Given the description of an element on the screen output the (x, y) to click on. 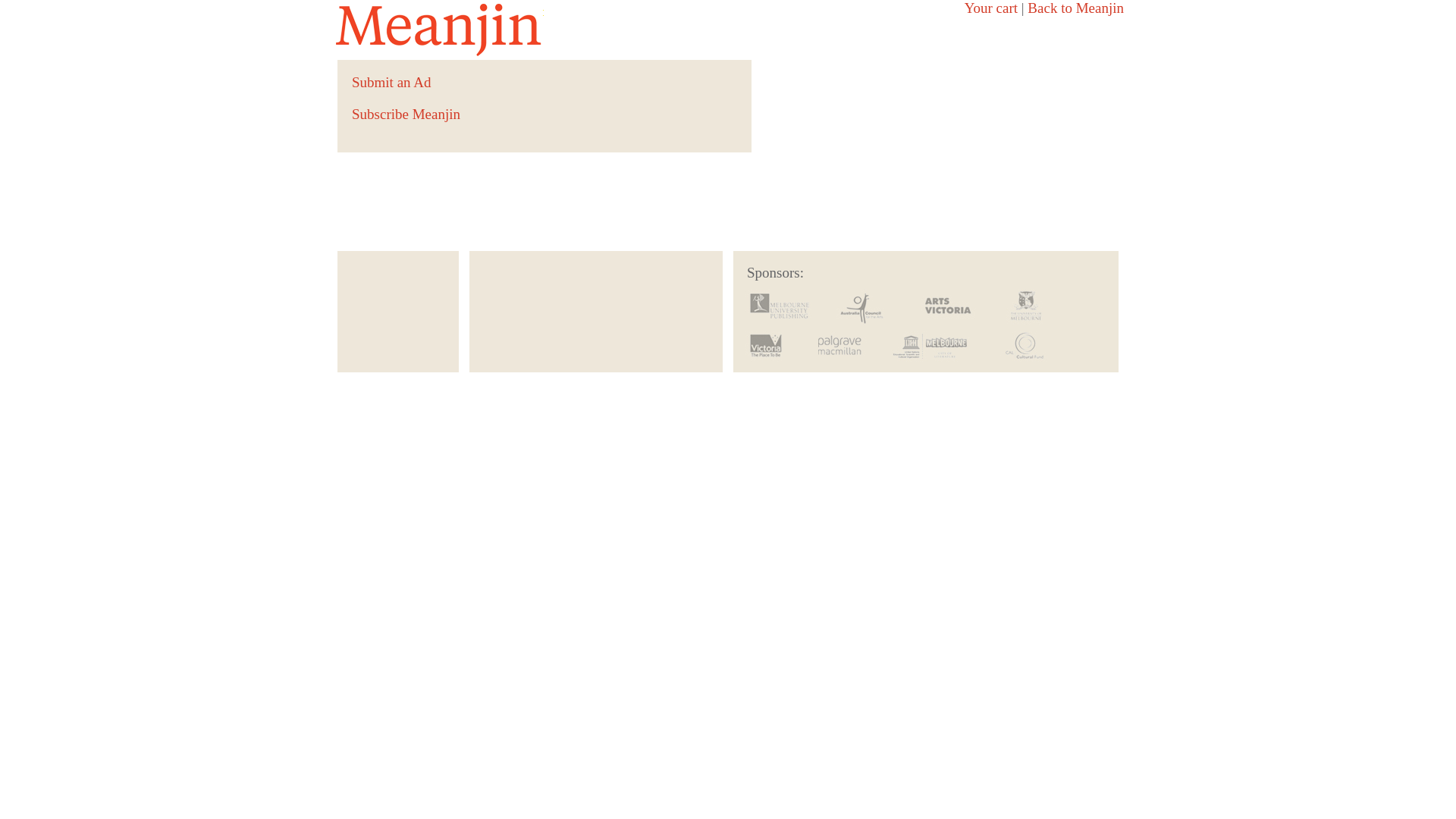
Your cart Element type: text (990, 7)
Submit an Ad Element type: text (391, 82)
Back to Meanjin Element type: text (1075, 7)
Subscribe Meanjin Element type: text (405, 114)
